Given the description of an element on the screen output the (x, y) to click on. 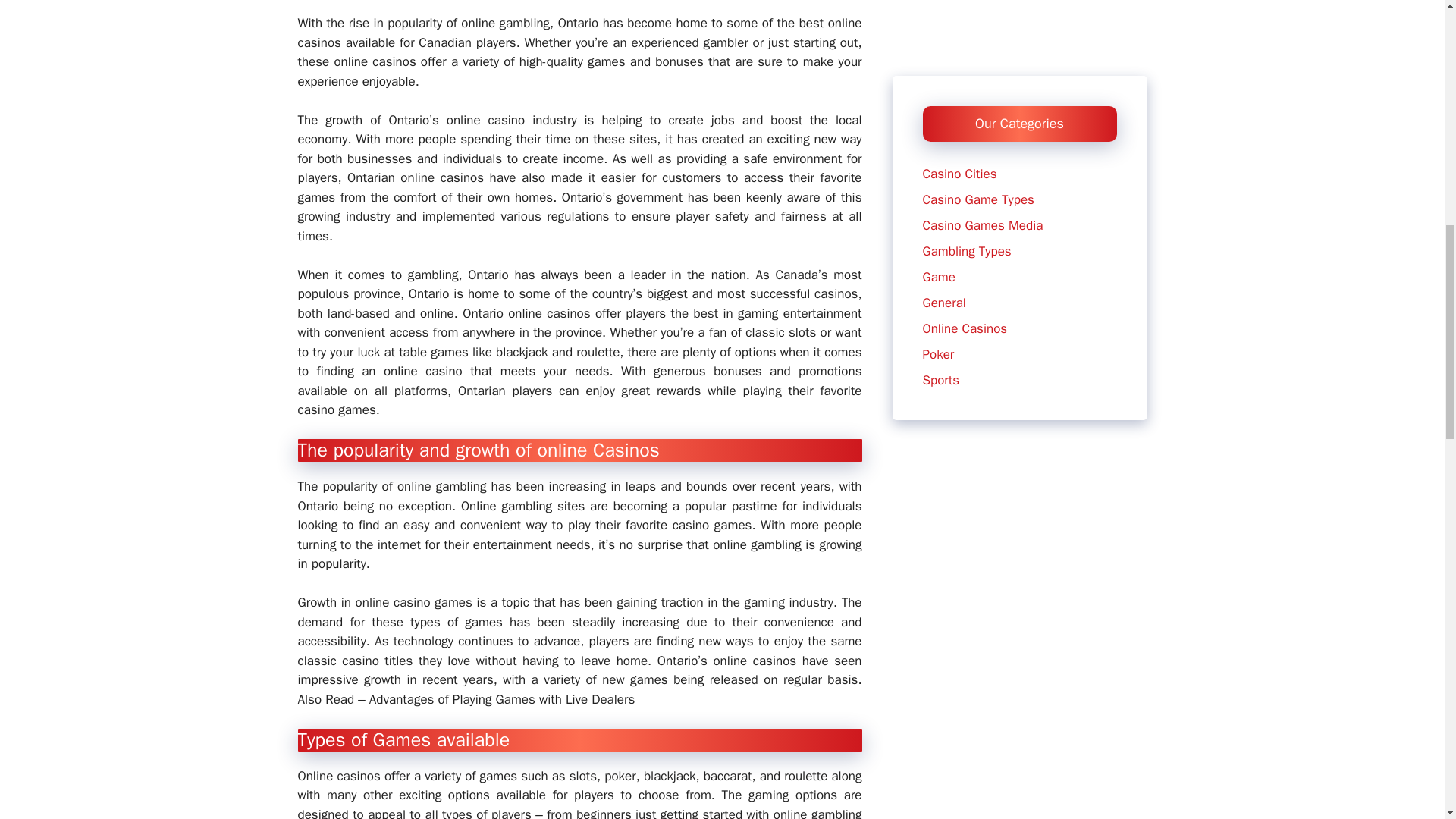
Game (938, 166)
Gambling Types (965, 141)
Casino Game Types (977, 89)
Advantages of Playing Games with Live Dealers (501, 699)
General (943, 192)
Poker (937, 244)
Online Casinos (964, 218)
implemented various regulations (516, 216)
Sports (940, 270)
Casino Cities (958, 64)
Casino Games Media (981, 115)
Ontario online casinos (526, 313)
